Given the description of an element on the screen output the (x, y) to click on. 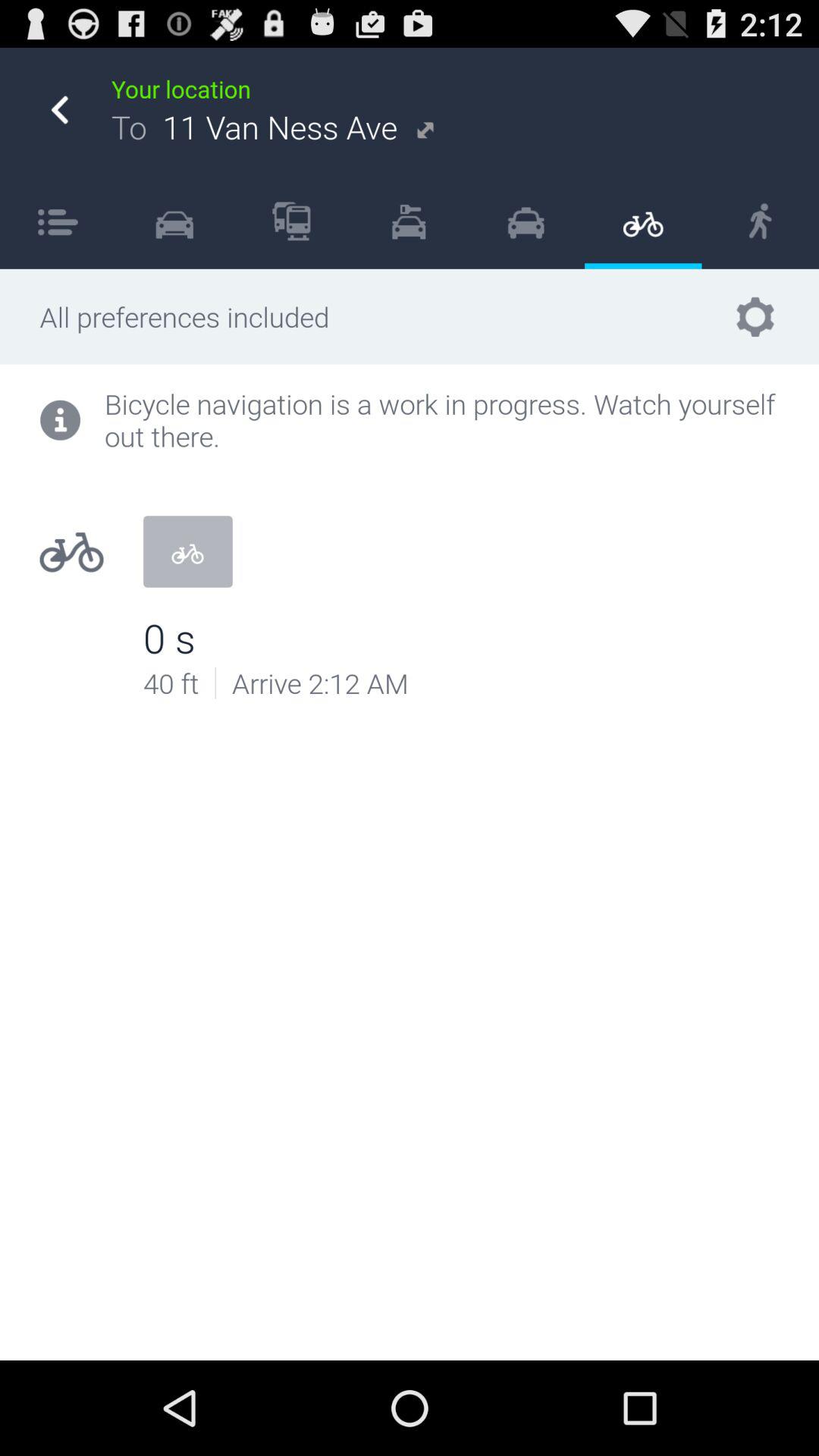
press the item to the right of   item (174, 221)
